Given the description of an element on the screen output the (x, y) to click on. 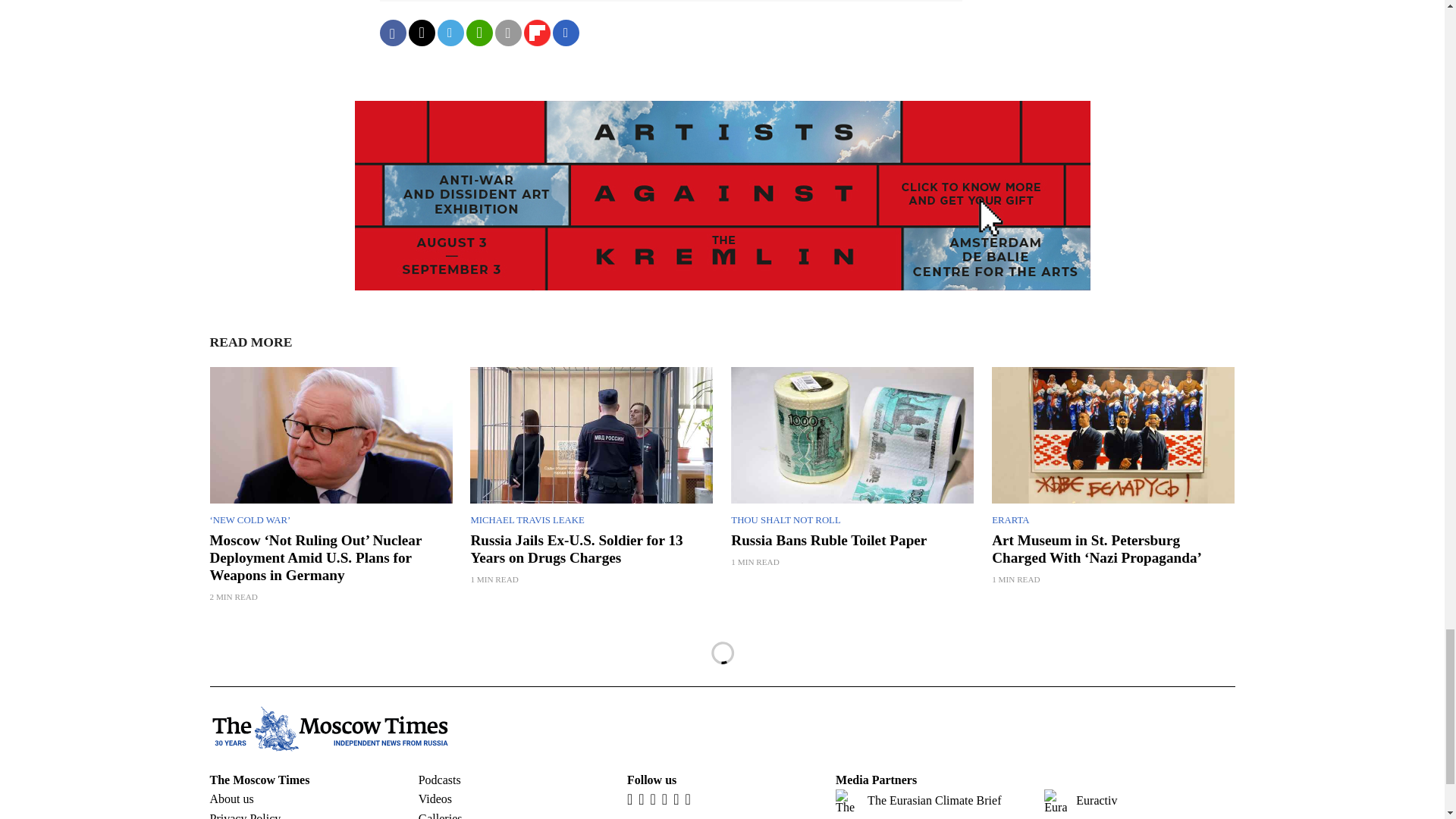
Share on Flipboard (536, 32)
Share on Facebook (392, 32)
Share on Telegram (449, 32)
Share on Twitter (420, 32)
